Given the description of an element on the screen output the (x, y) to click on. 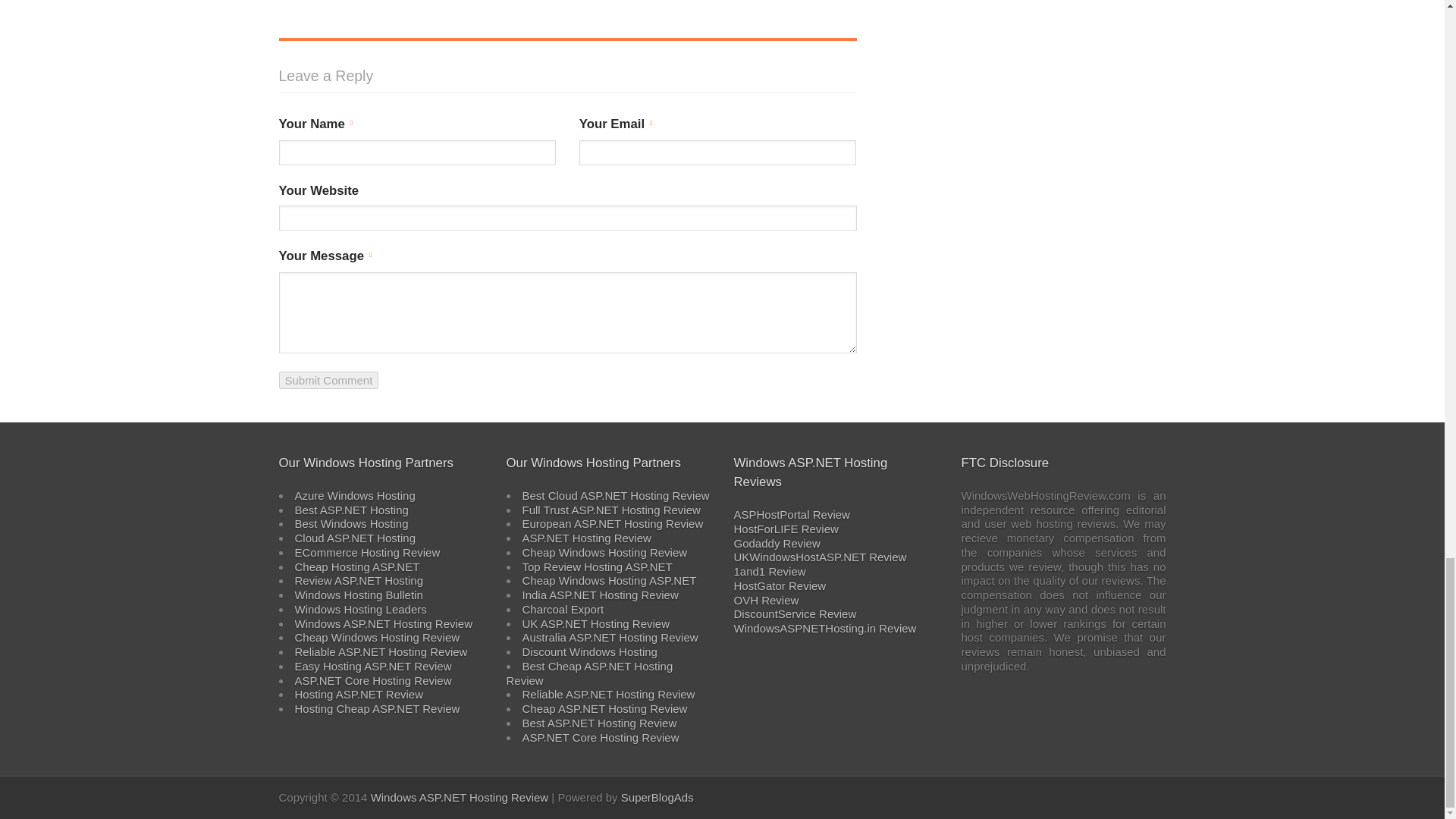
Submit Comment (328, 380)
